Given the description of an element on the screen output the (x, y) to click on. 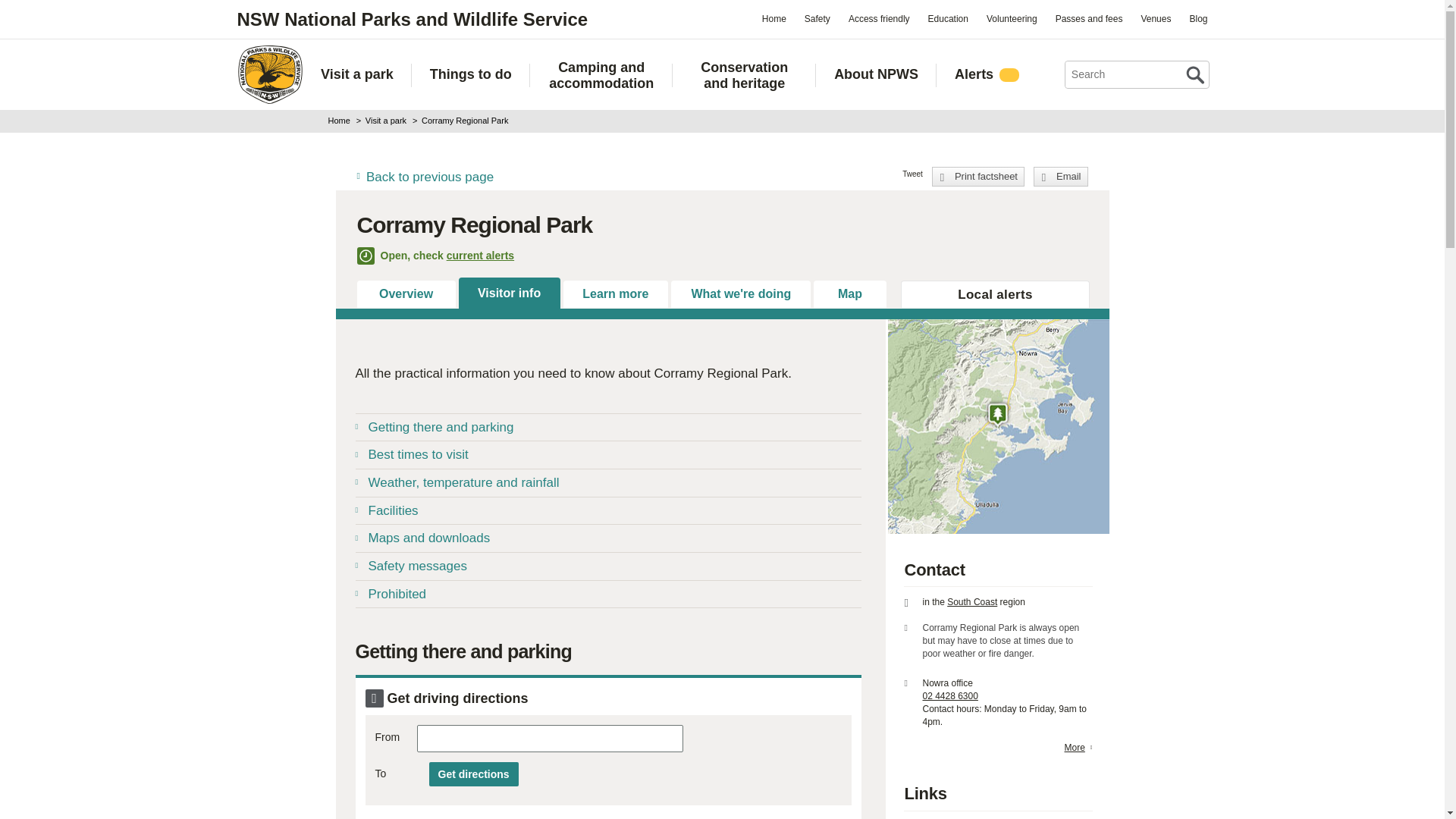
Home (268, 74)
Volunteering (1011, 18)
Visit a park (356, 74)
Passes and fees (1089, 18)
Access friendly (879, 18)
Blog (1197, 18)
Camping and accommodation (601, 75)
Things to do (470, 74)
Home (773, 18)
About NPWS (876, 74)
Safety (816, 18)
Education (947, 18)
Conservation and heritage (743, 75)
Venues (1155, 18)
Print-friendly version of these webpages (978, 176)
